Given the description of an element on the screen output the (x, y) to click on. 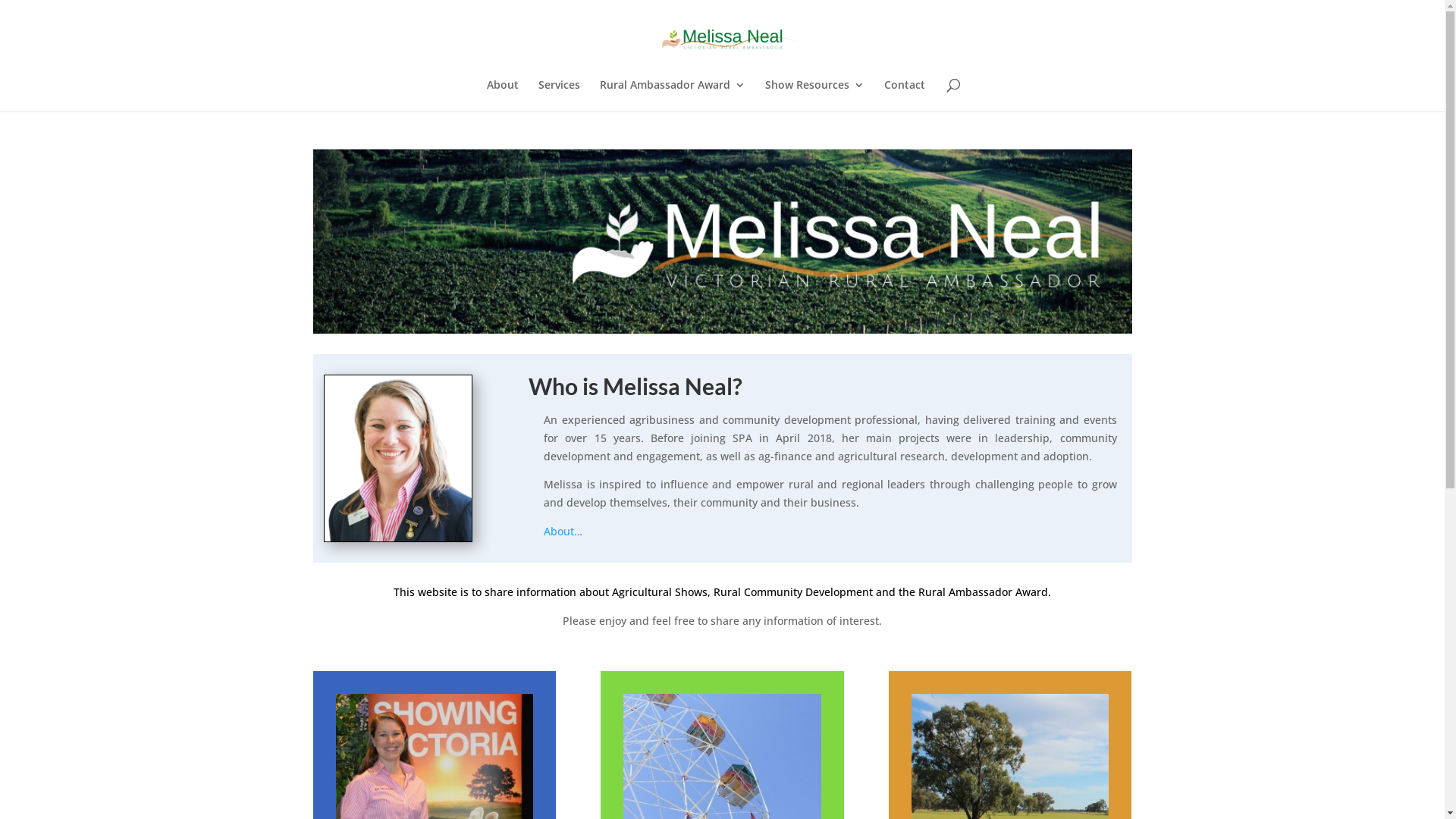
RAAMJN-Headshot-e1425955351389-removebg-preview Element type: hover (397, 458)
About Element type: text (502, 95)
Contact Element type: text (904, 95)
Show Resources Element type: text (813, 95)
Rural Ambassador Award Element type: text (671, 95)
Melissa Neal Element type: hover (721, 241)
Services Element type: text (559, 95)
